Given the description of an element on the screen output the (x, y) to click on. 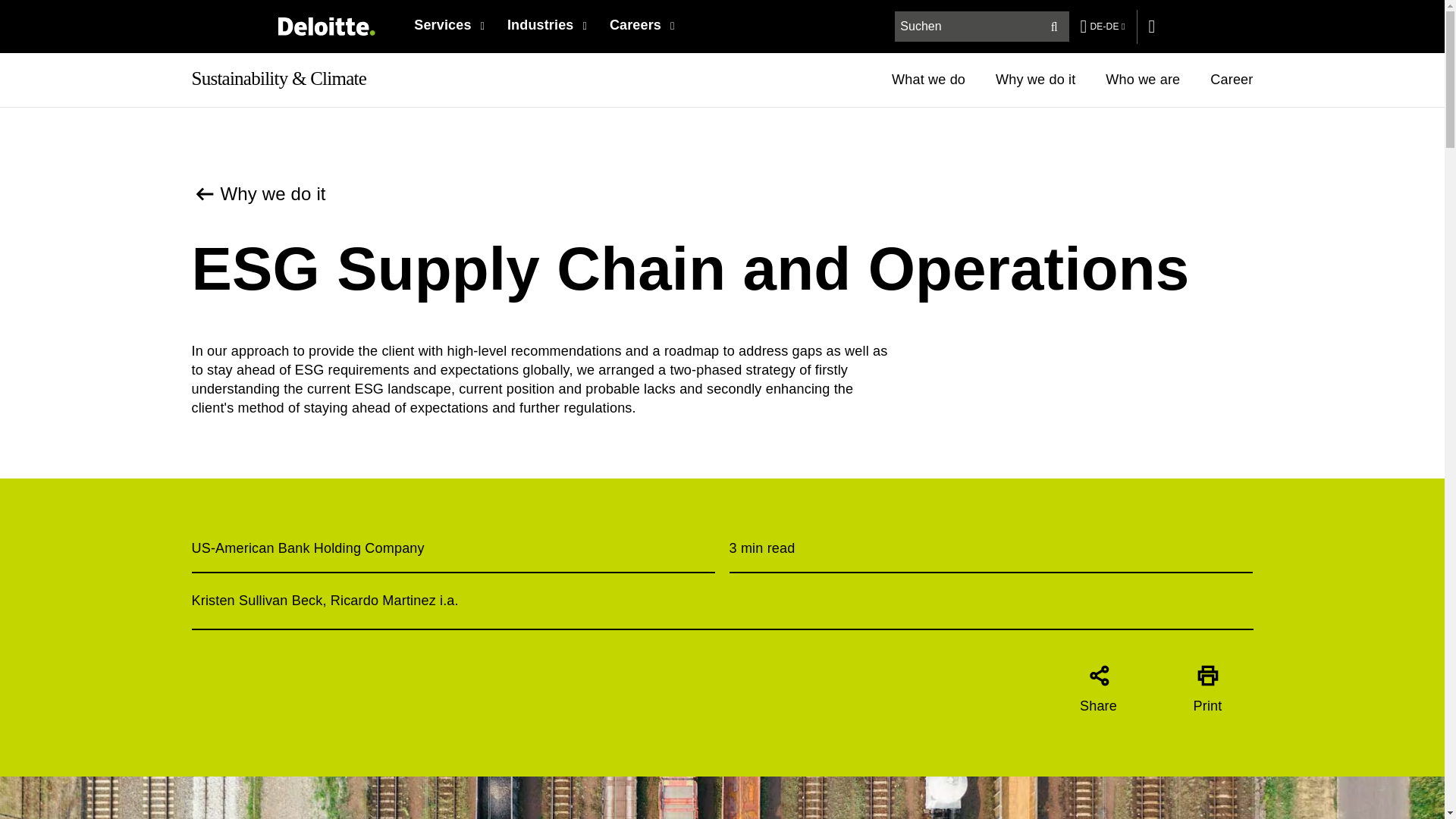
search (982, 26)
Why we do it (257, 193)
Suchen (1071, 79)
Deloitte Germany (1053, 26)
Services (326, 26)
